Given the description of an element on the screen output the (x, y) to click on. 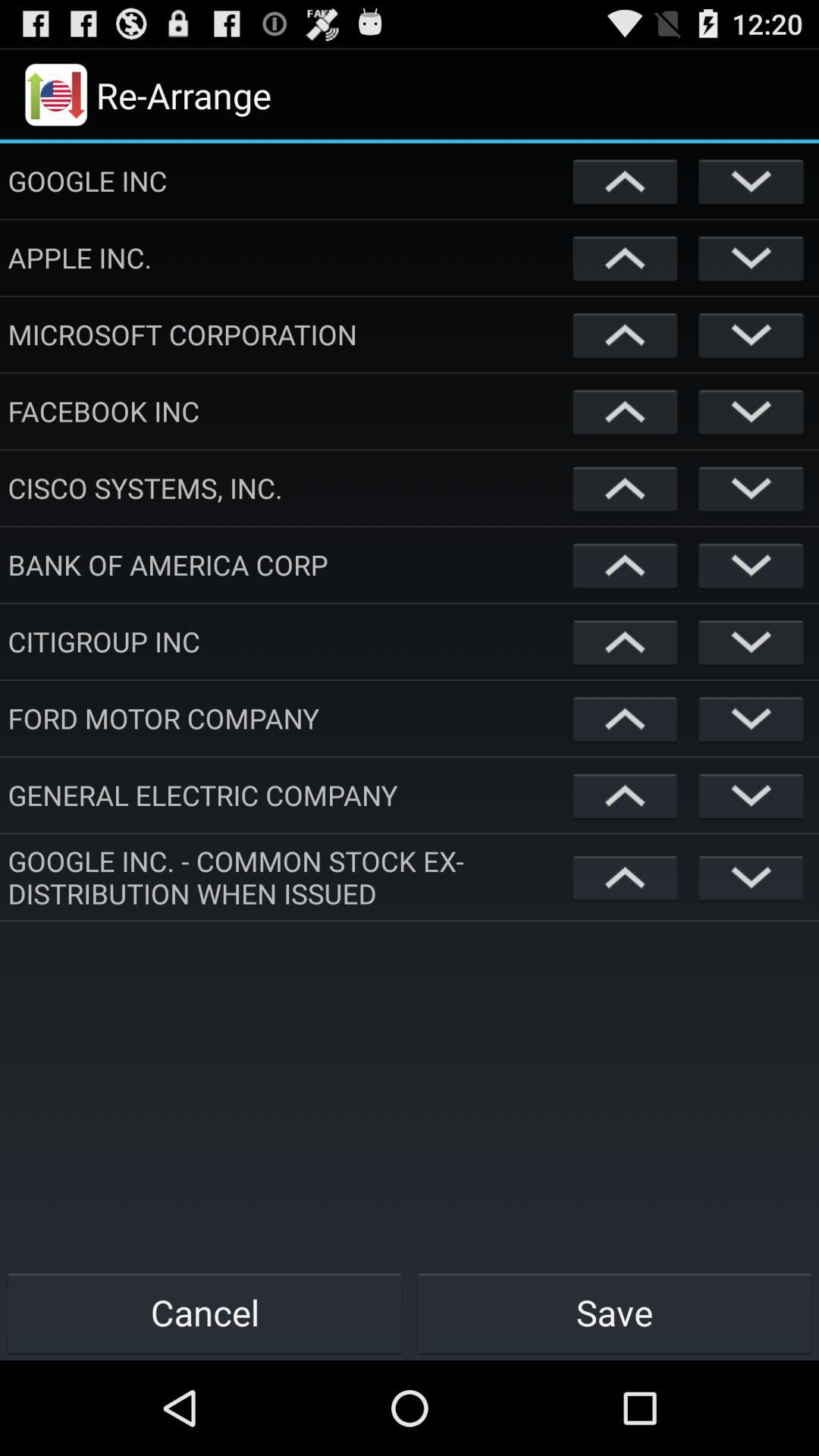
direction (624, 334)
